Given the description of an element on the screen output the (x, y) to click on. 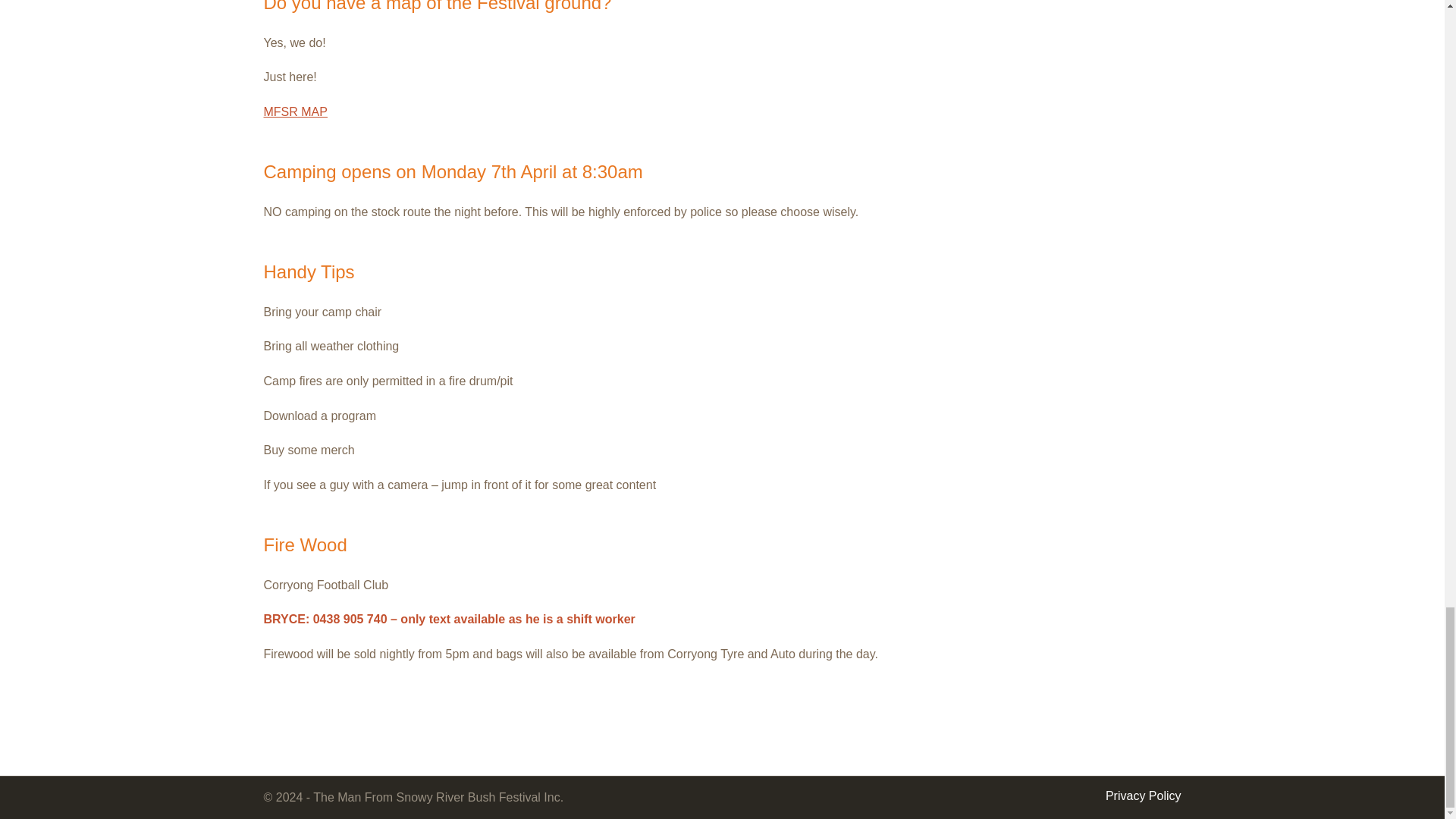
MFSR MAP (295, 111)
Privacy Policy (1142, 795)
